Given the description of an element on the screen output the (x, y) to click on. 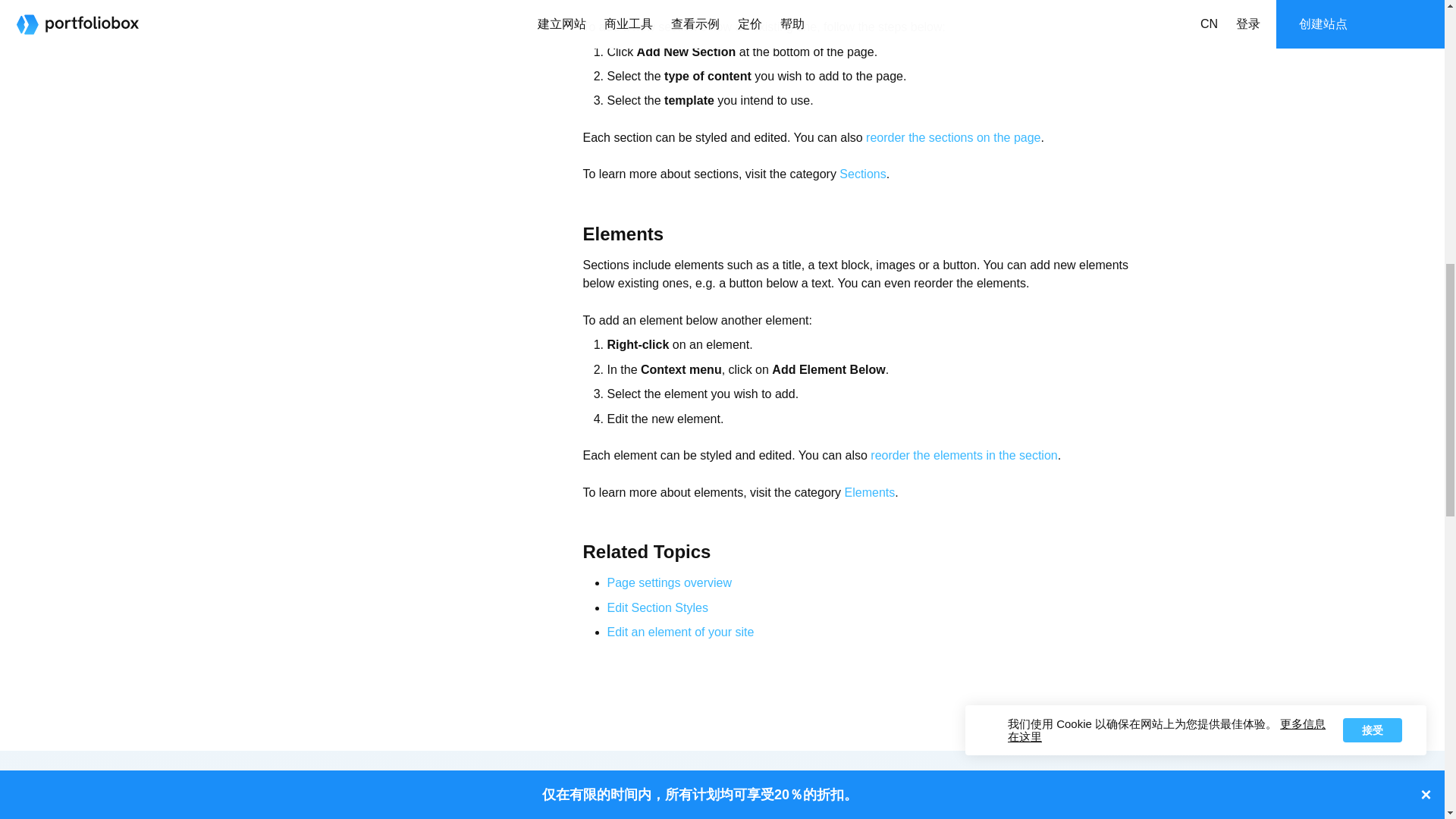
Reorder sections (953, 137)
Sections (862, 173)
Elements (869, 492)
Reorder elements (963, 454)
